Given the description of an element on the screen output the (x, y) to click on. 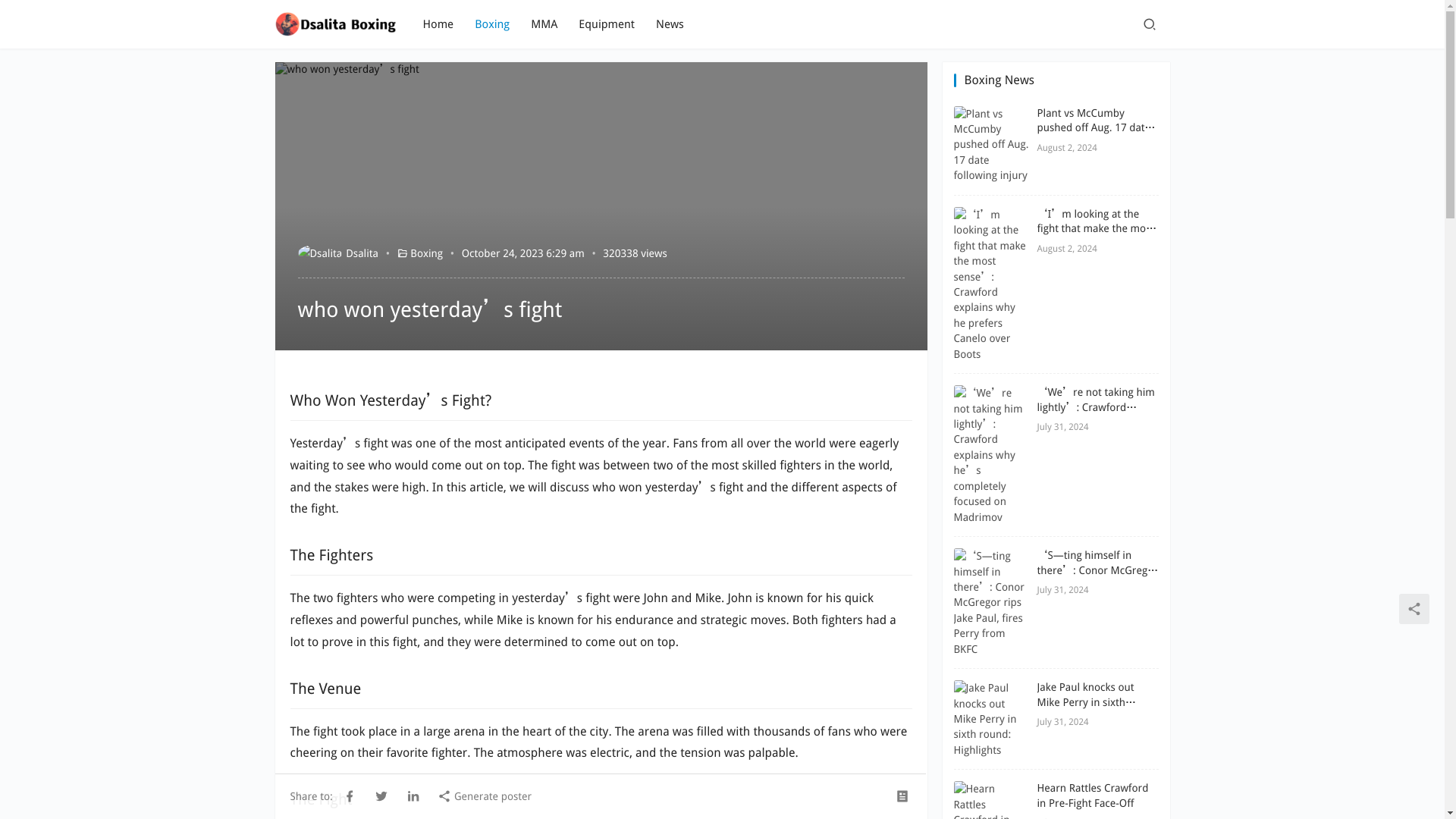
Generate poster (483, 795)
Dsalita (337, 253)
Boxing (426, 253)
Equipment (606, 24)
